Given the description of an element on the screen output the (x, y) to click on. 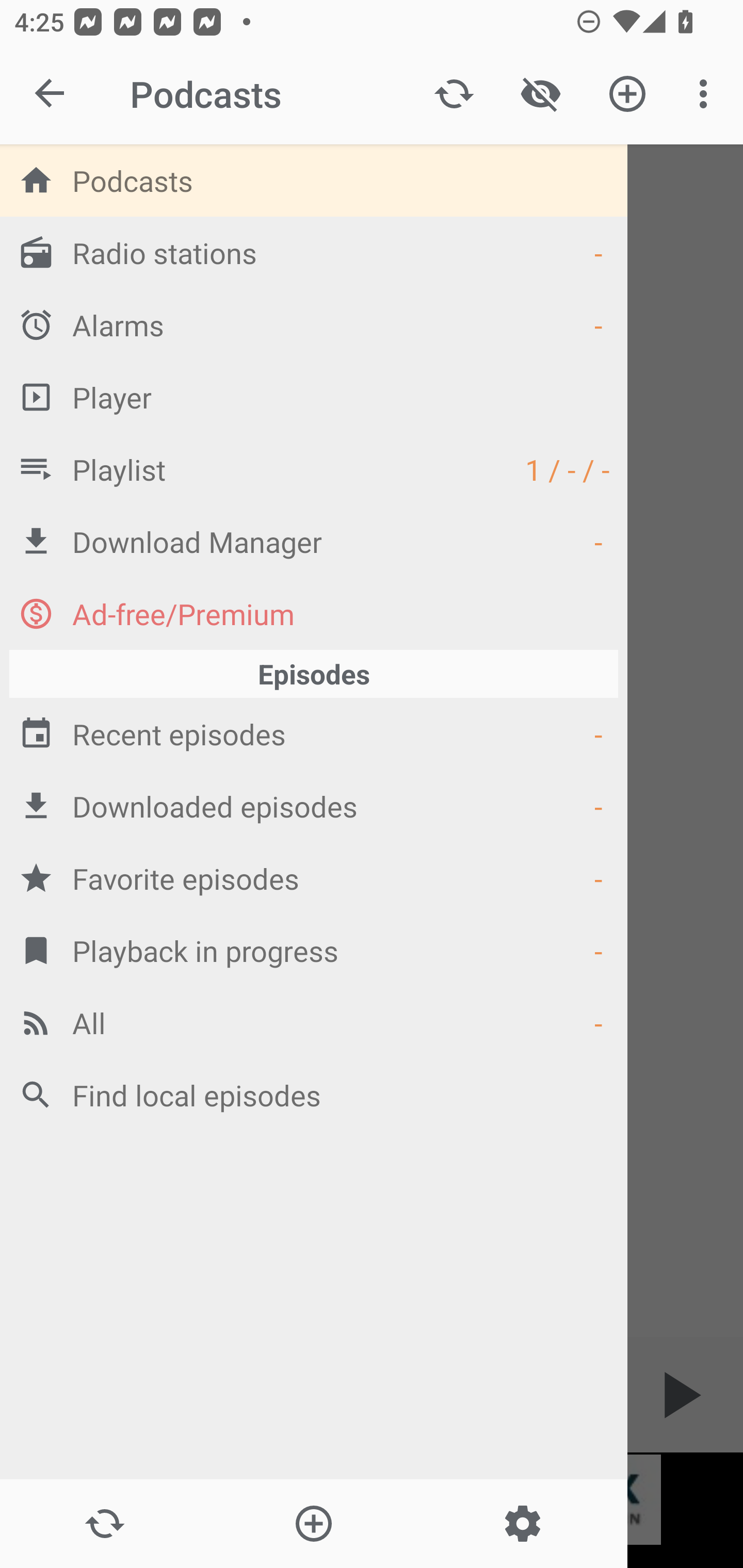
Close navigation sidebar (50, 93)
Update (453, 93)
Show / Hide played content (540, 93)
Add new Podcast (626, 93)
More options (706, 93)
Podcasts (313, 180)
Radio stations  -  (313, 252)
Alarms  -  (313, 324)
Player (313, 396)
Playlist 1 / - / - (313, 468)
Download Manager  -  (313, 540)
Ad-free/Premium (313, 613)
Recent episodes  -  (313, 733)
Downloaded episodes  -  (313, 805)
Favorite episodes  -  (313, 878)
Playback in progress  -  (313, 950)
All  -  (313, 1022)
Find local episodes (313, 1094)
Update (104, 1523)
Add new Podcast (312, 1523)
Settings (522, 1523)
